Given the description of an element on the screen output the (x, y) to click on. 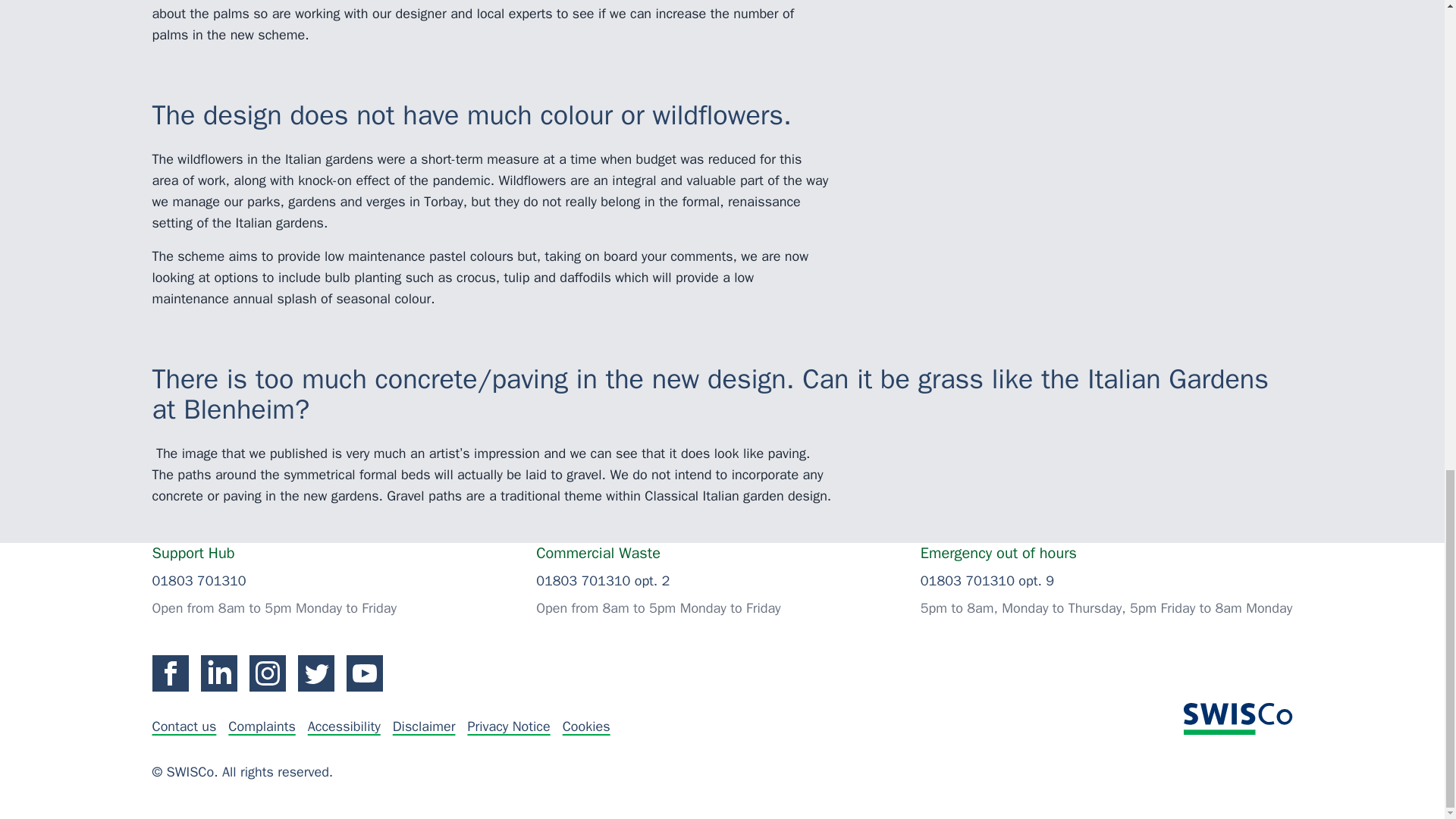
Complaints (261, 726)
Privacy Notice (508, 726)
Contact us (183, 726)
Disclaimer (424, 726)
Cookies (586, 726)
Accessibility (343, 726)
